Given the description of an element on the screen output the (x, y) to click on. 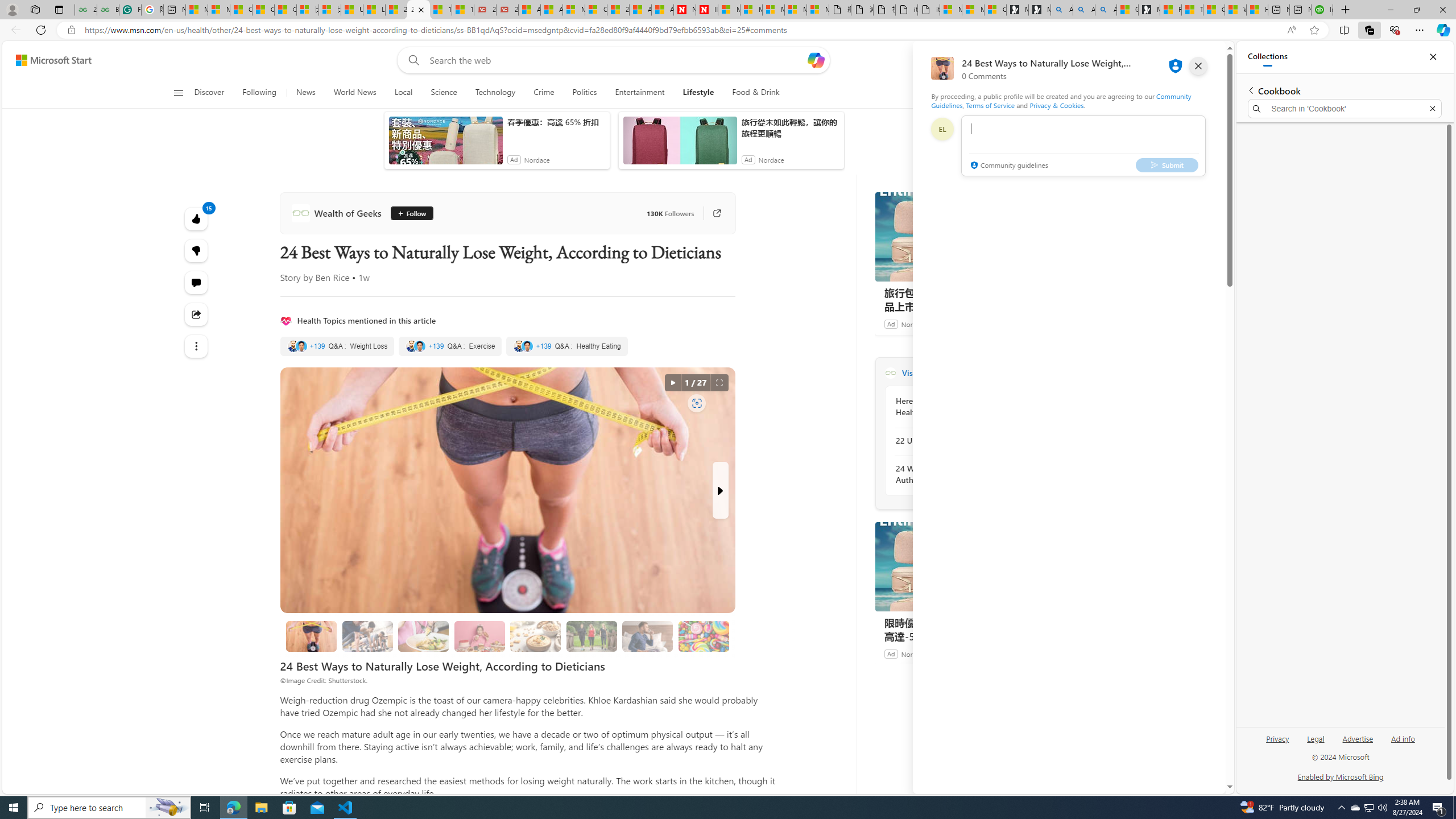
Healthy eating (566, 346)
22 Underrated 70s Crime Movies (957, 440)
Consumer Health Data Privacy Policy (995, 9)
1. Candy (703, 636)
Wealth of Geeks (889, 372)
Class: progress (703, 633)
